Given the description of an element on the screen output the (x, y) to click on. 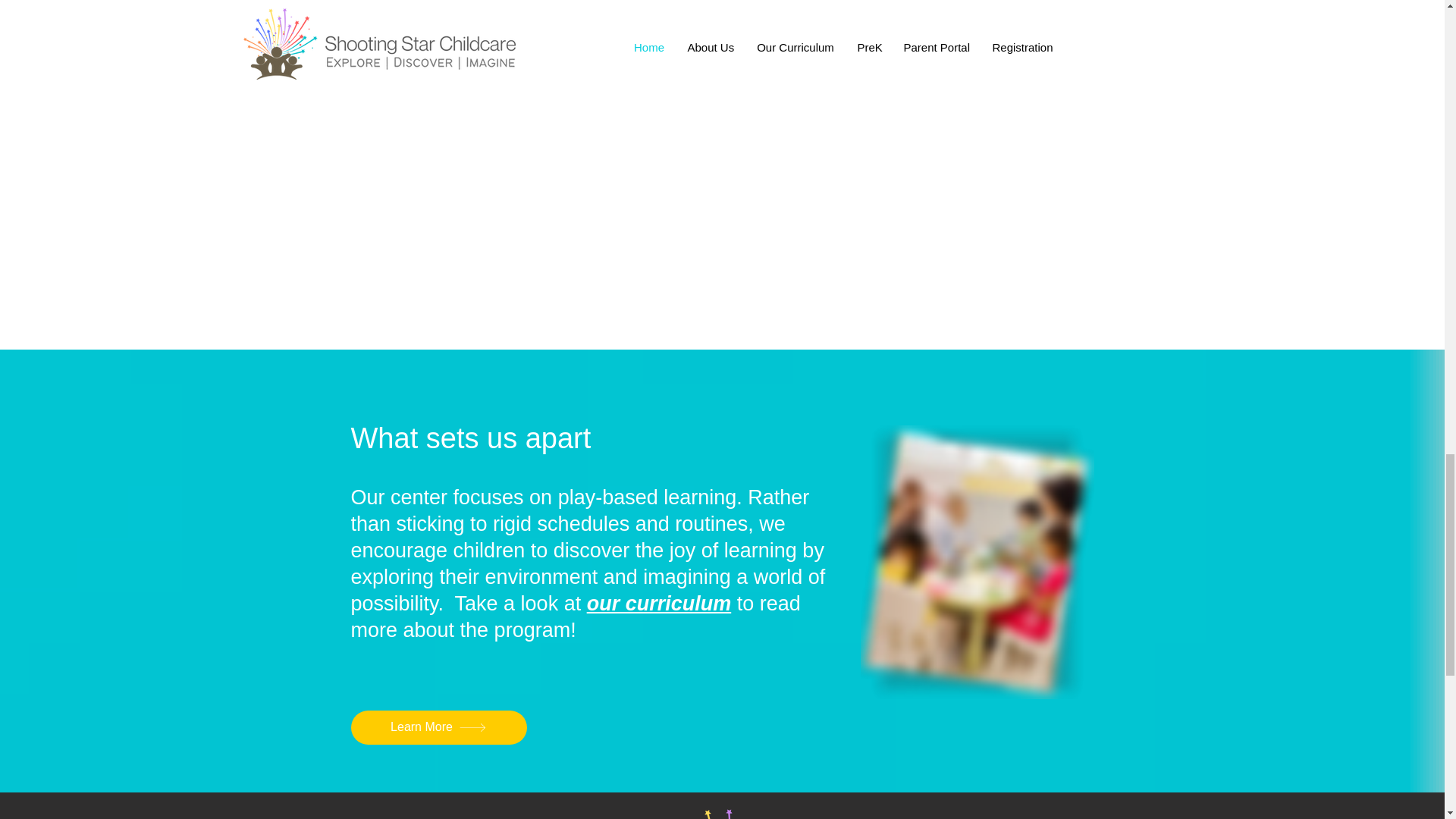
our curriculum (659, 603)
Learn More (437, 727)
